Given the description of an element on the screen output the (x, y) to click on. 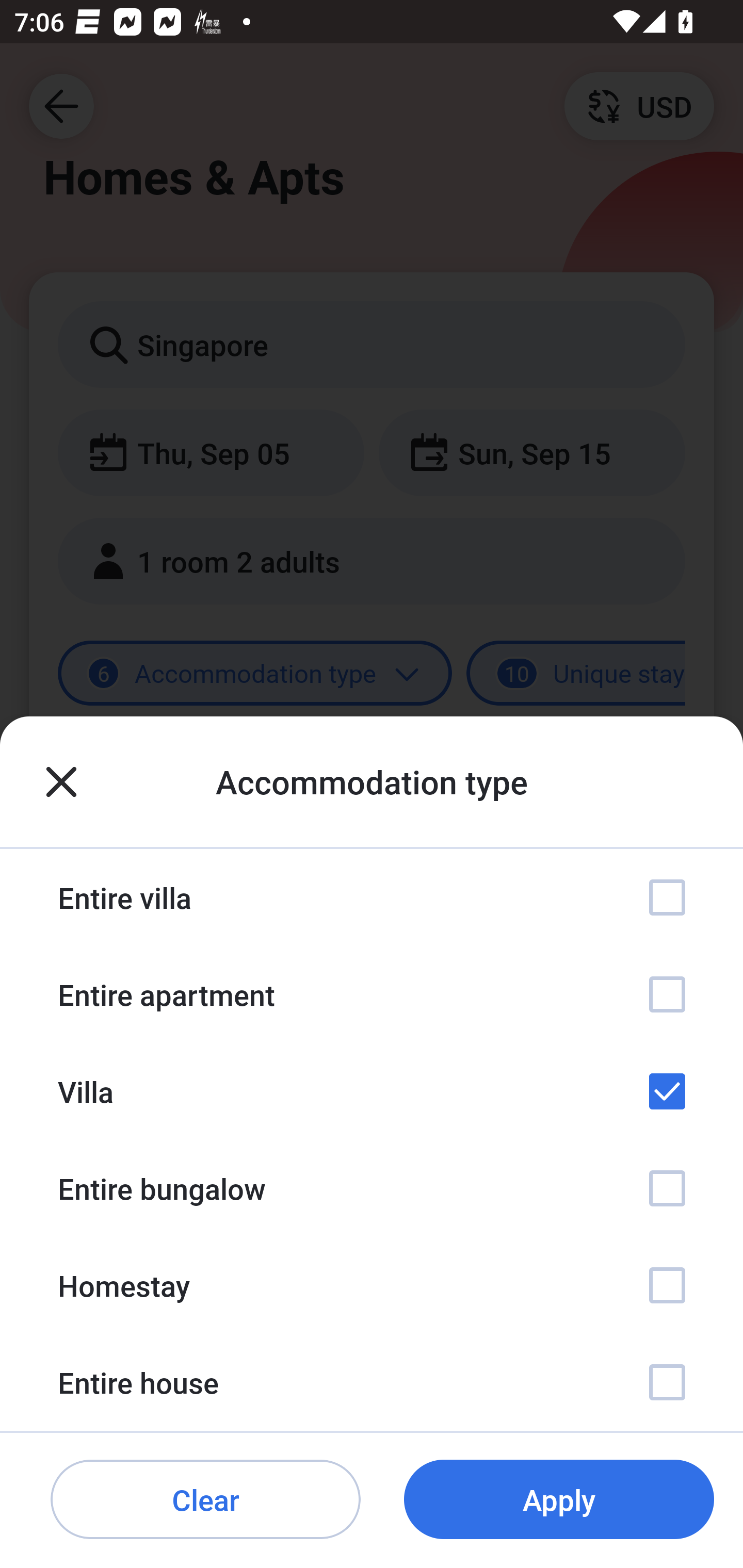
Entire villa (371, 897)
Entire apartment (371, 994)
Villa (371, 1091)
Entire bungalow (371, 1188)
Homestay (371, 1284)
Entire house (371, 1382)
Clear (205, 1499)
Apply (559, 1499)
